Given the description of an element on the screen output the (x, y) to click on. 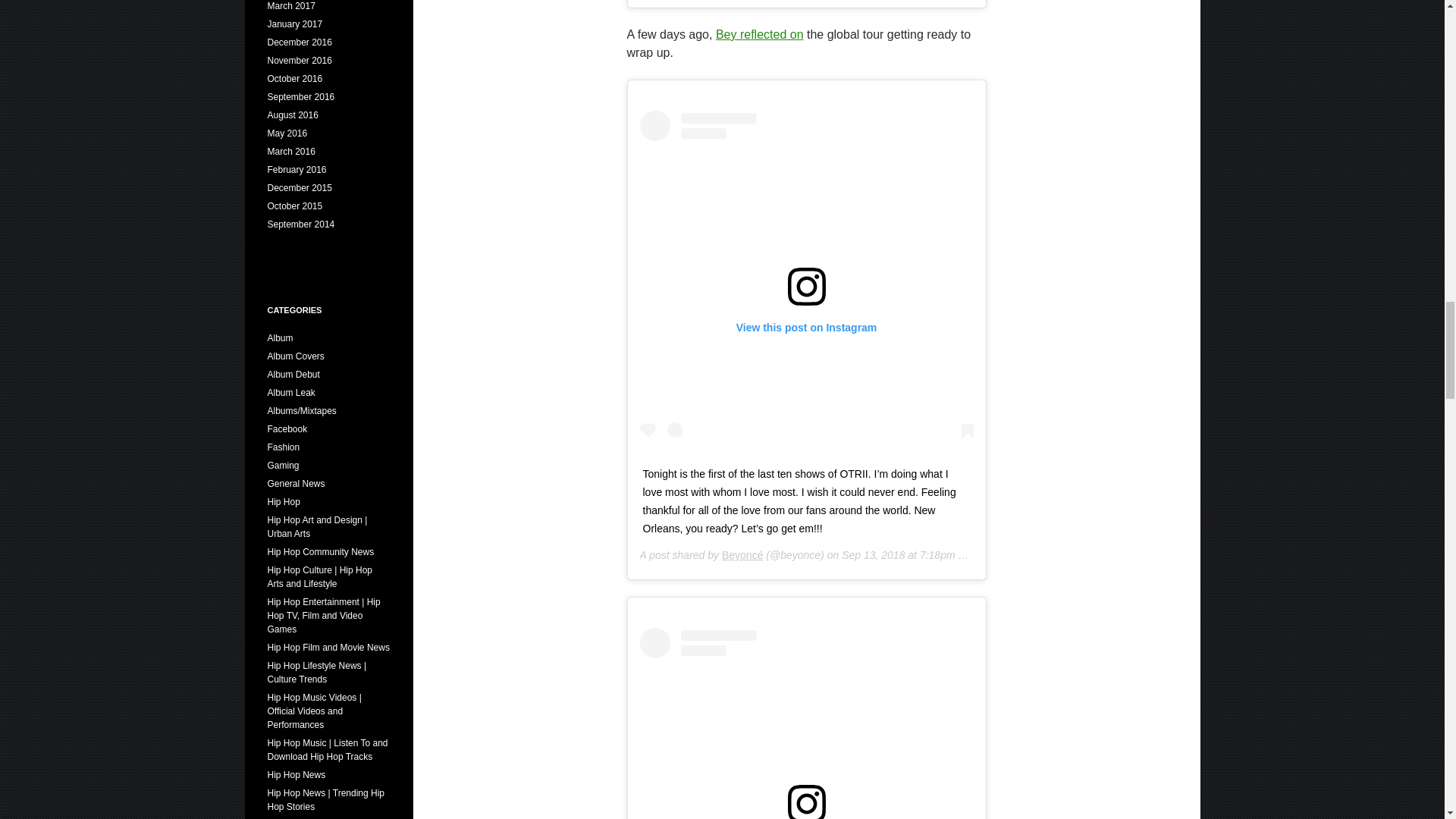
Bey reflected on (759, 33)
View this post on Instagram (807, 278)
View this post on Instagram (807, 723)
